Given the description of an element on the screen output the (x, y) to click on. 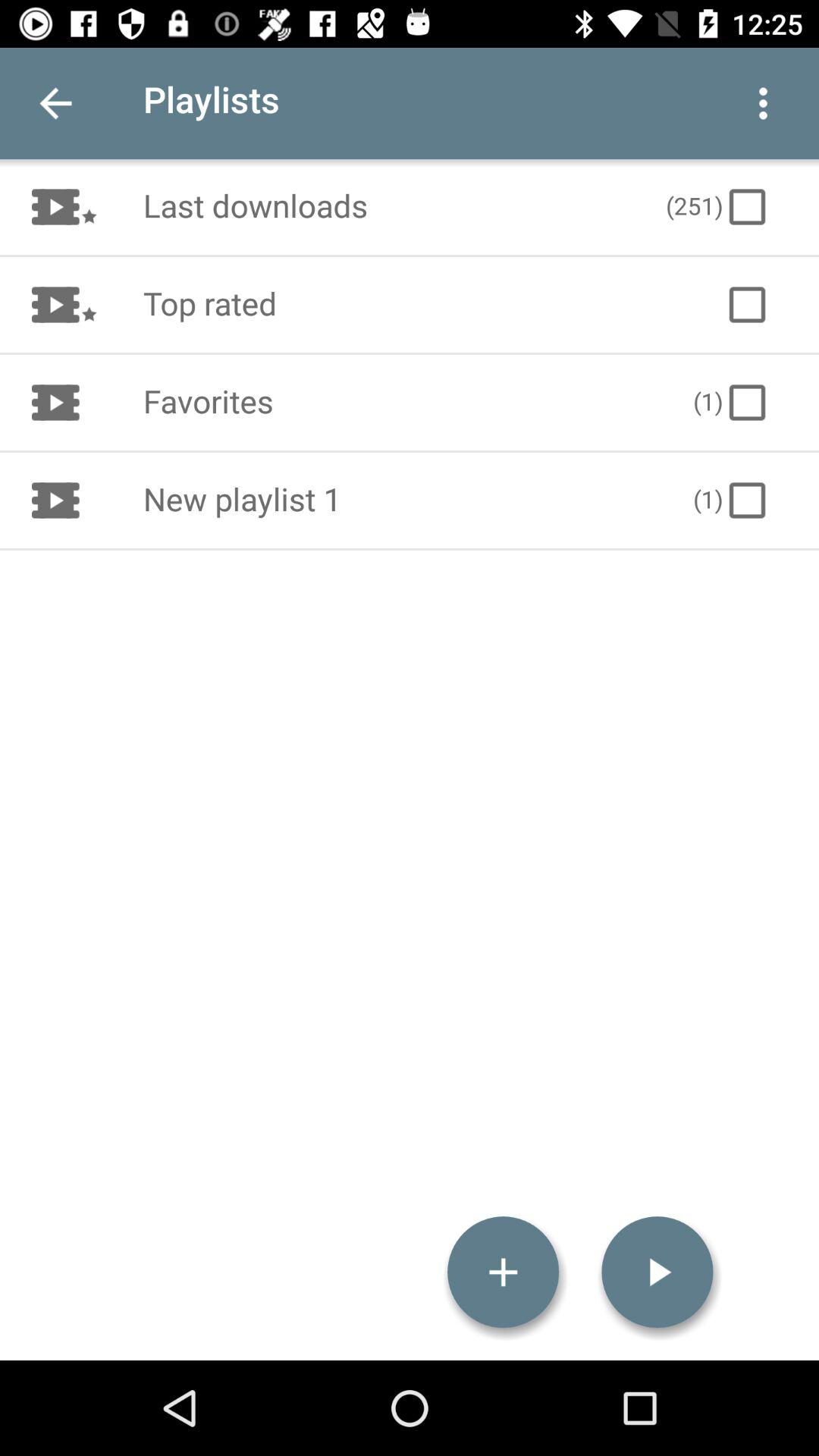
turn on item next to (251) item (388, 206)
